Given the description of an element on the screen output the (x, y) to click on. 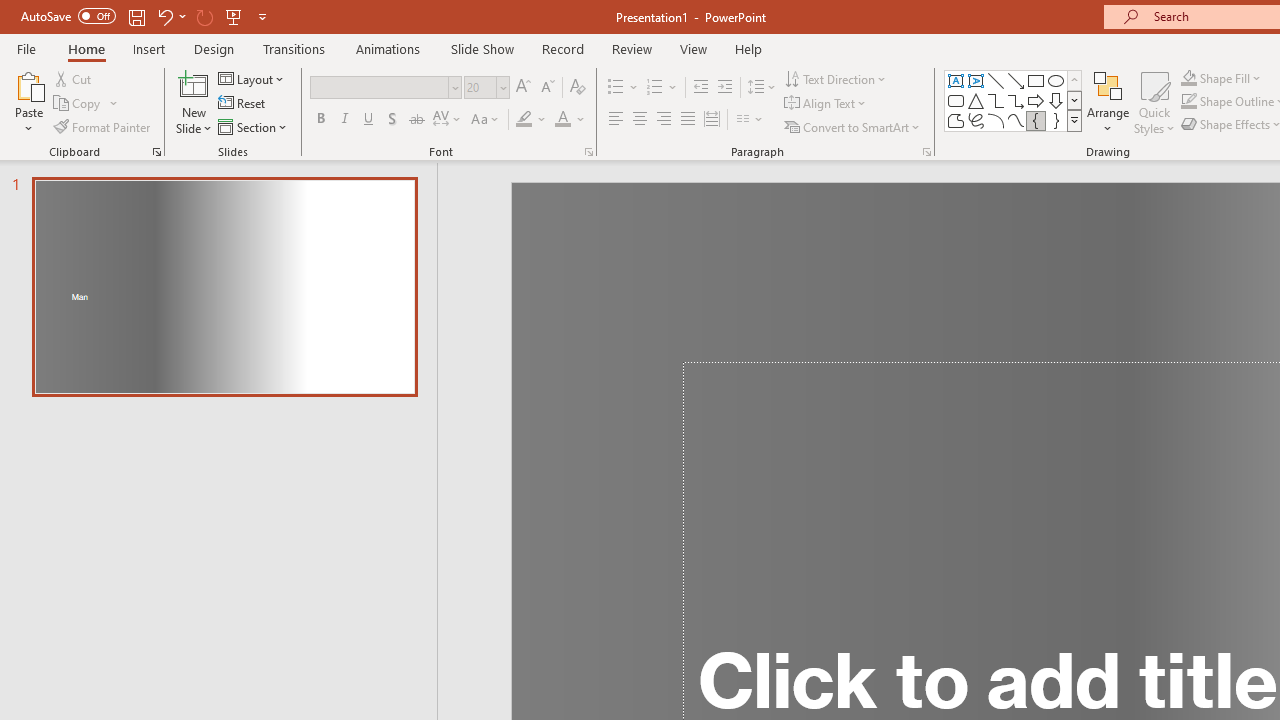
Arrow: Down (1055, 100)
Line Spacing (762, 87)
Convert to SmartArt (853, 126)
Increase Indent (725, 87)
Layout (252, 78)
Oval (1055, 80)
Decrease Indent (700, 87)
